Given the description of an element on the screen output the (x, y) to click on. 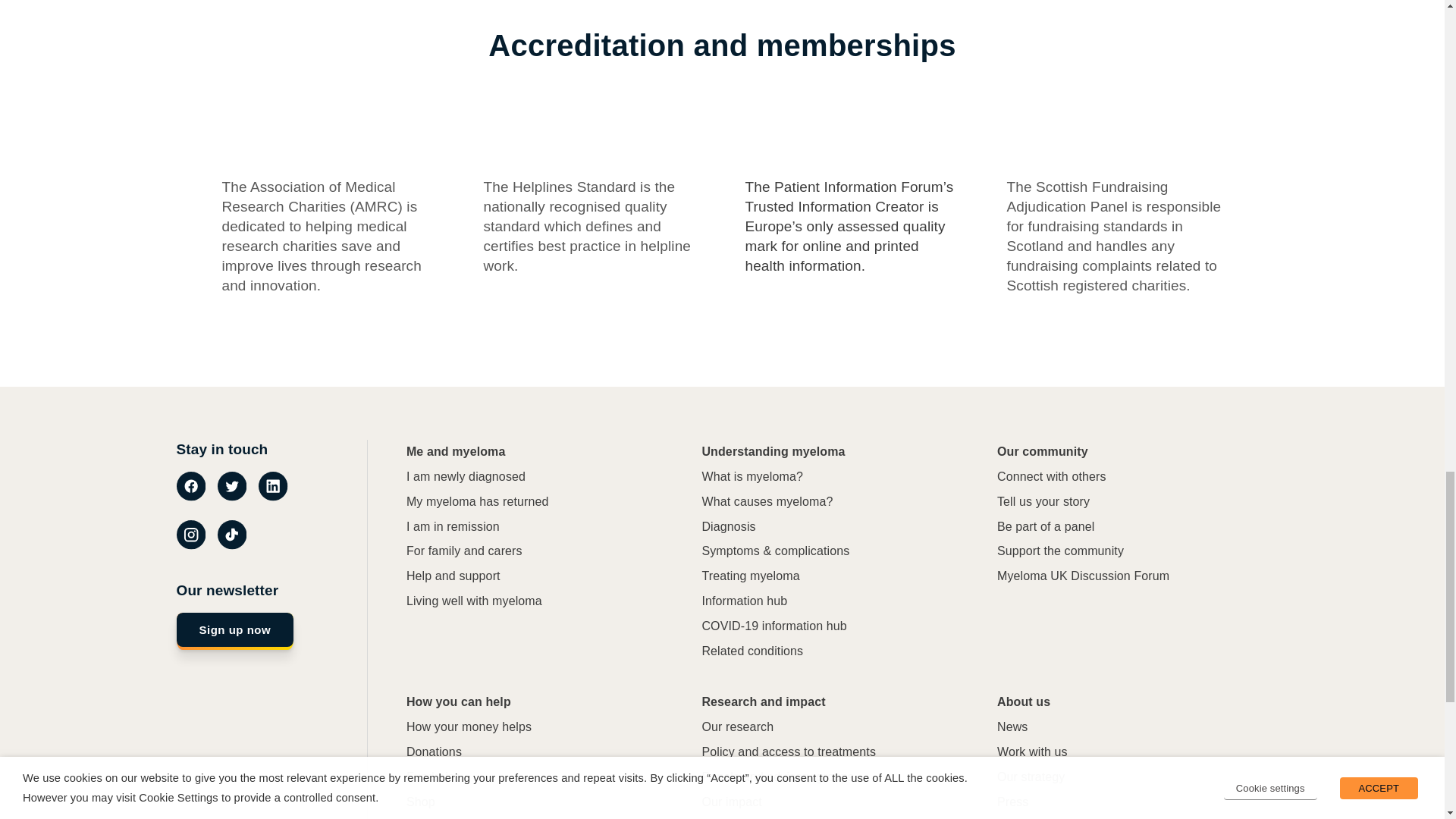
Understanding myeloma (772, 452)
What is myeloma? (752, 477)
Sign up now (235, 631)
I am newly diagnosed (465, 477)
Help and support (453, 576)
For family and carers (464, 551)
Me and myeloma (455, 452)
What causes myeloma? (766, 502)
My myeloma has returned (477, 502)
I am in remission (452, 527)
